Given the description of an element on the screen output the (x, y) to click on. 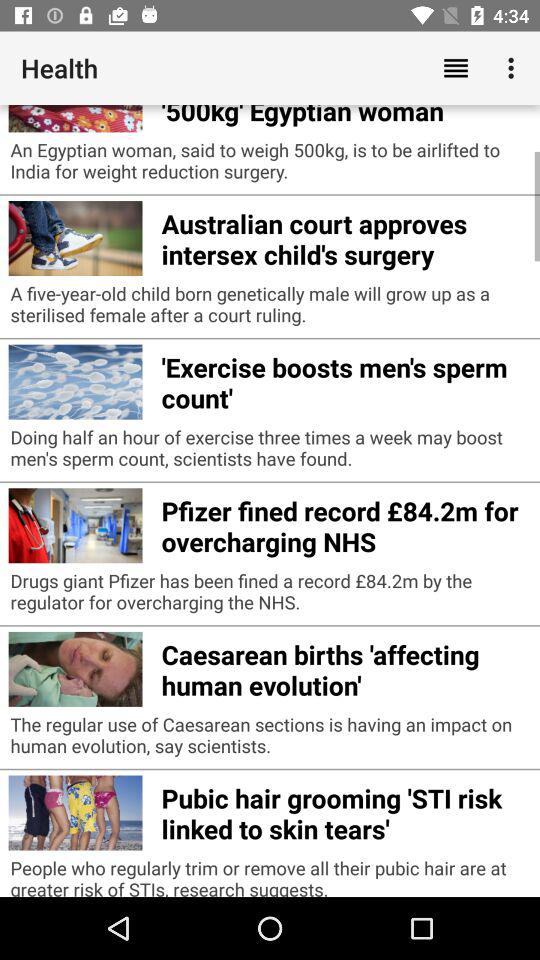
flip to the regular use item (270, 740)
